Given the description of an element on the screen output the (x, y) to click on. 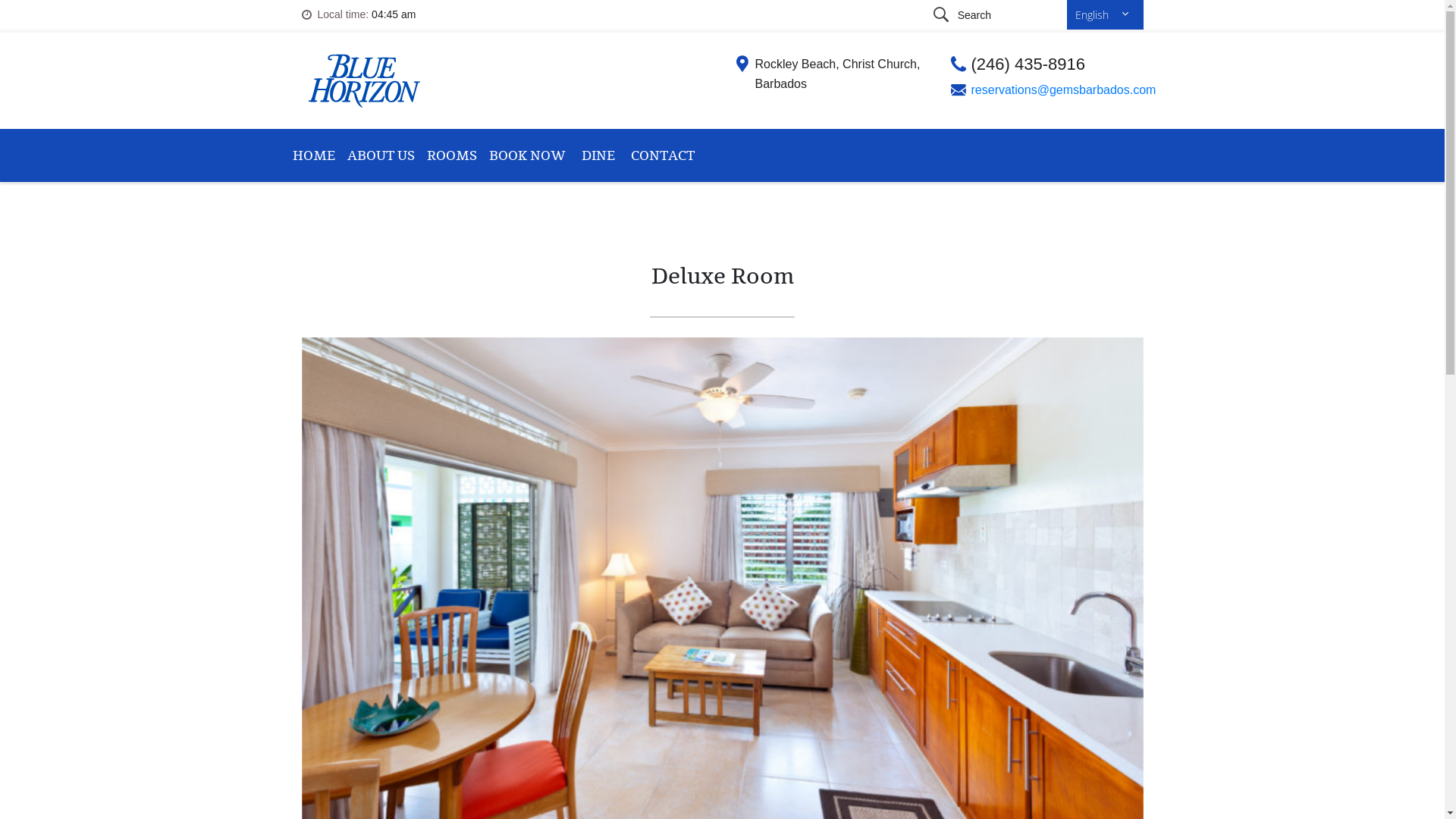
ROOMS Element type: text (451, 155)
CONTACT Element type: text (662, 155)
DINE Element type: text (597, 155)
HOME Element type: text (313, 155)
reservations@gemsbarbados.com Element type: text (1062, 89)
BOOK NOW Element type: text (526, 155)
ABOUT US Element type: text (380, 155)
English Element type: text (1104, 14)
